Given the description of an element on the screen output the (x, y) to click on. 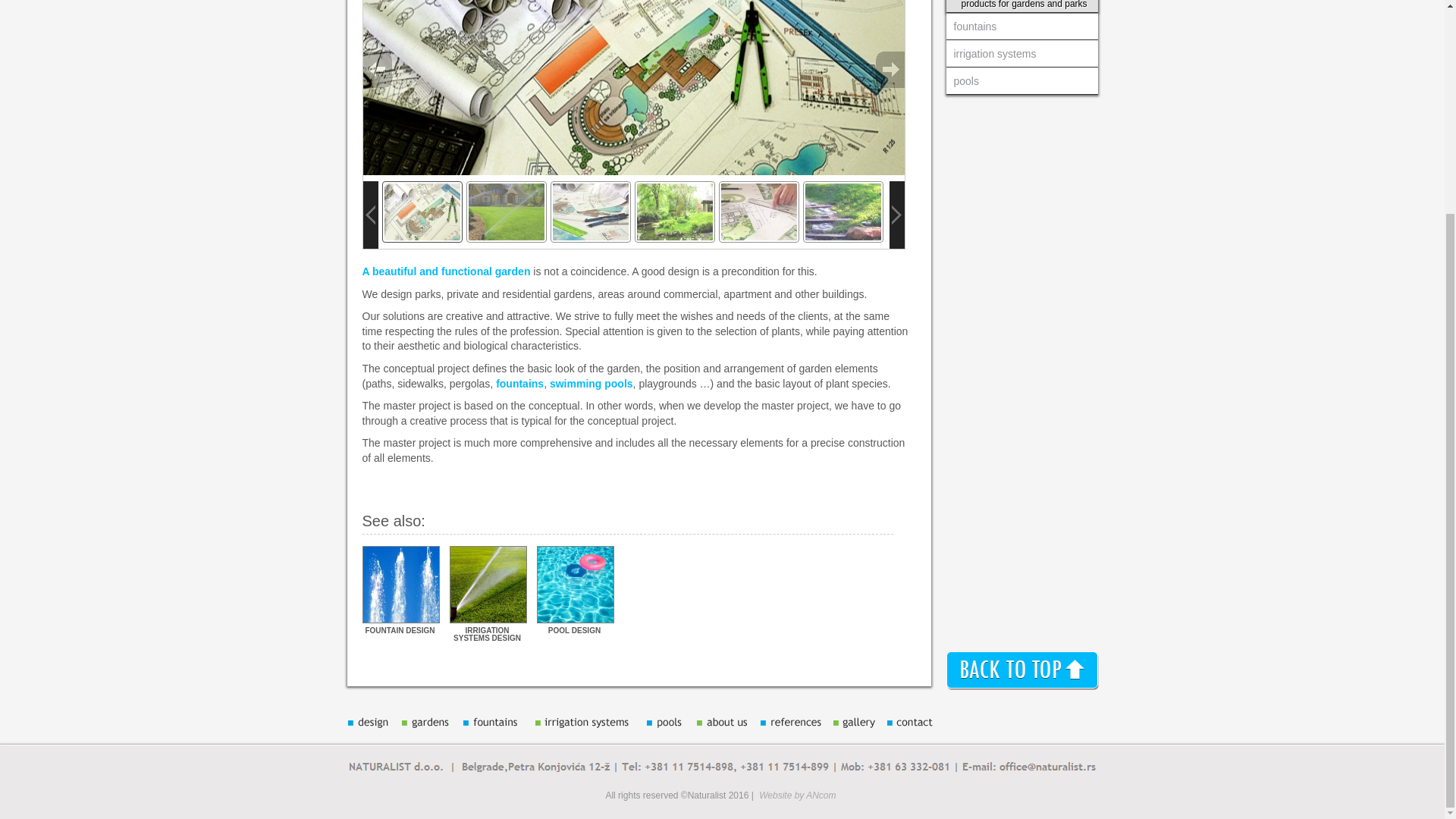
swimming pools (591, 383)
irrigation systems (1021, 53)
products for gardens and parks (1021, 6)
fountains (519, 383)
fountains (1021, 26)
A beautiful and functional garden (448, 271)
